Given the description of an element on the screen output the (x, y) to click on. 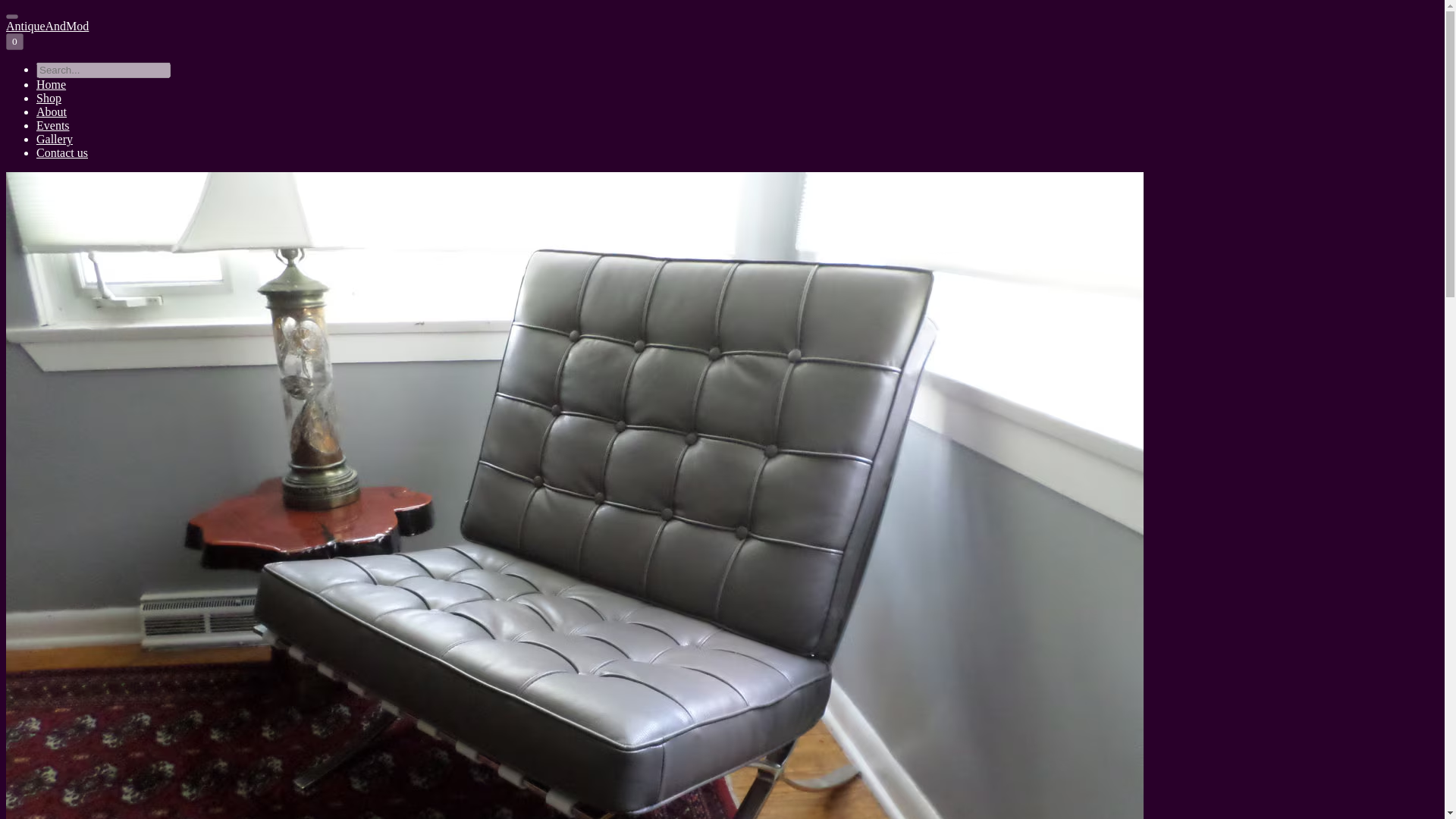
About (51, 111)
Contact us (61, 152)
Gallery (54, 138)
Home (50, 83)
Shop (48, 97)
0 (14, 41)
Events (52, 124)
